Given the description of an element on the screen output the (x, y) to click on. 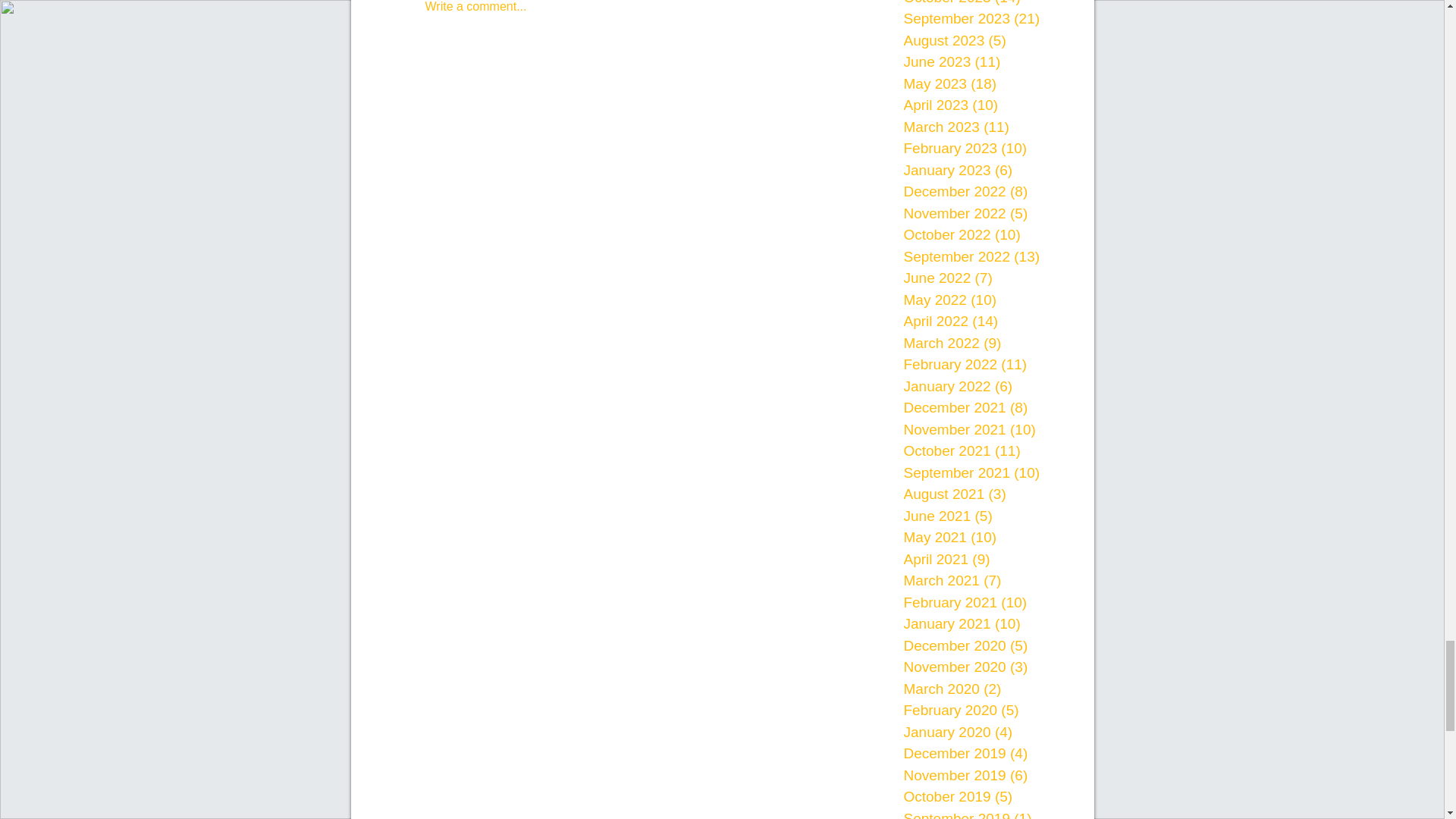
Write a comment... (628, 13)
